Given the description of an element on the screen output the (x, y) to click on. 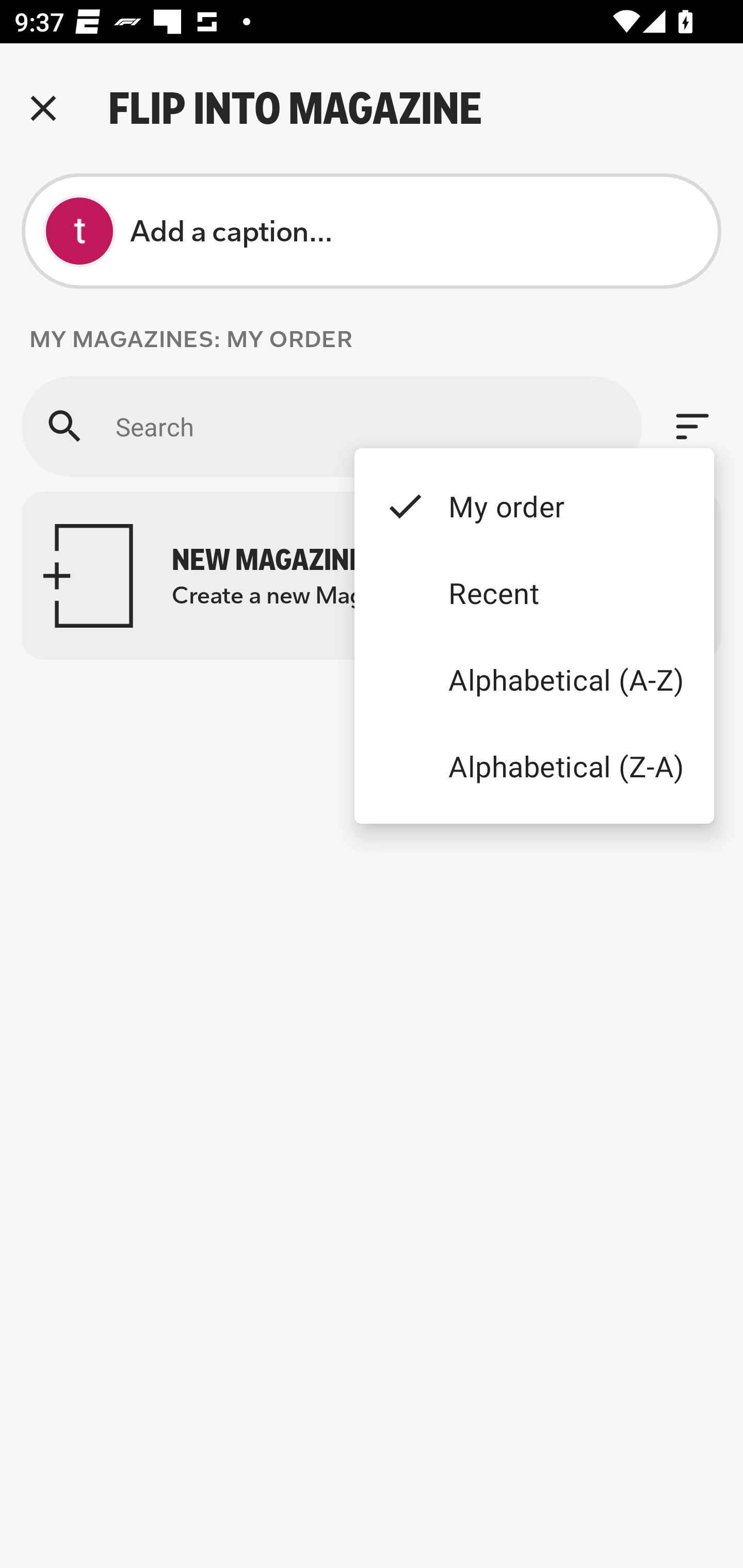
My order (534, 505)
Recent (534, 592)
Alphabetical (A-Z) (534, 679)
Alphabetical (Z-A) (534, 765)
